Given the description of an element on the screen output the (x, y) to click on. 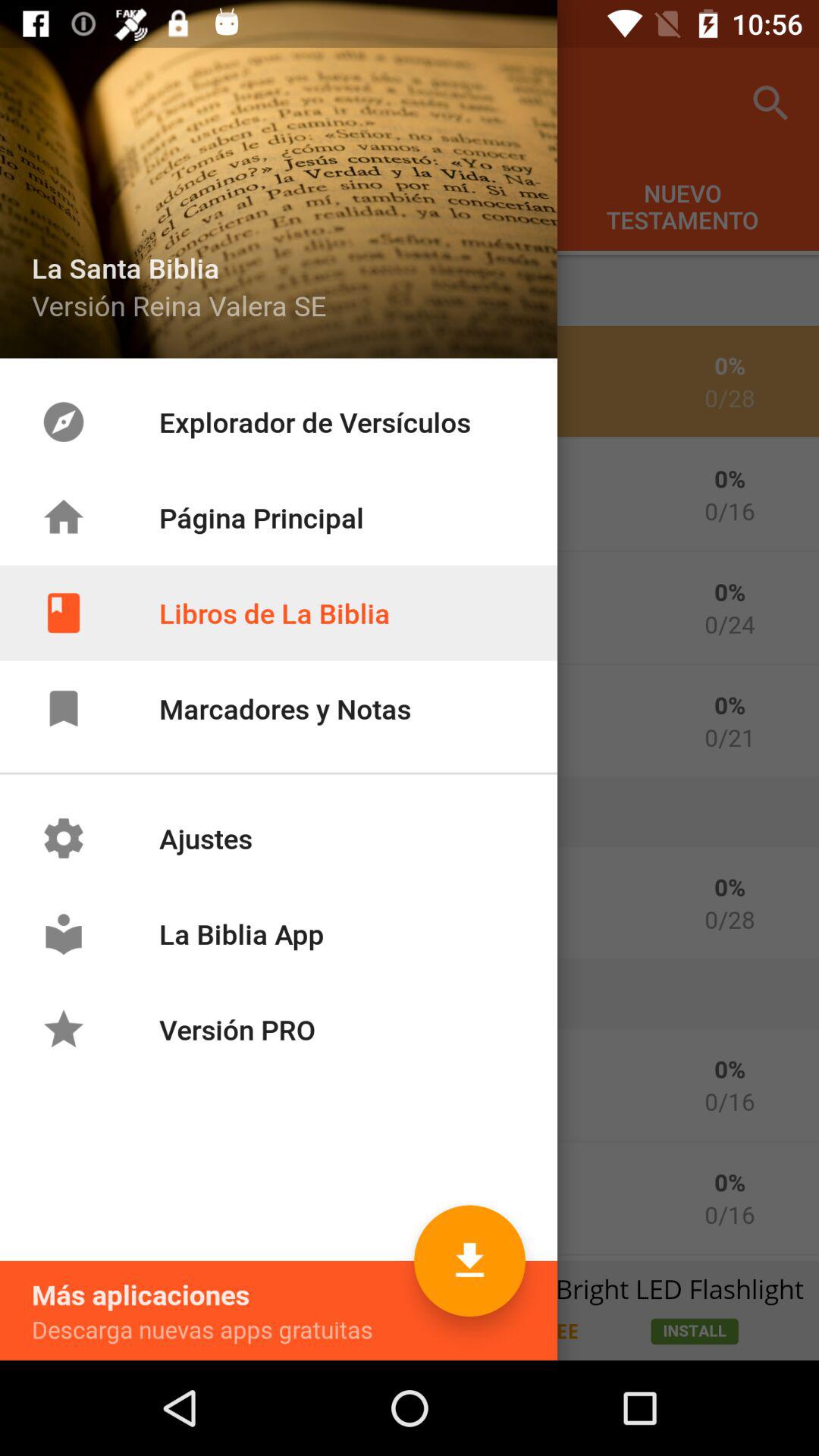
select the icon which is at the top right corner (771, 103)
